Given the description of an element on the screen output the (x, y) to click on. 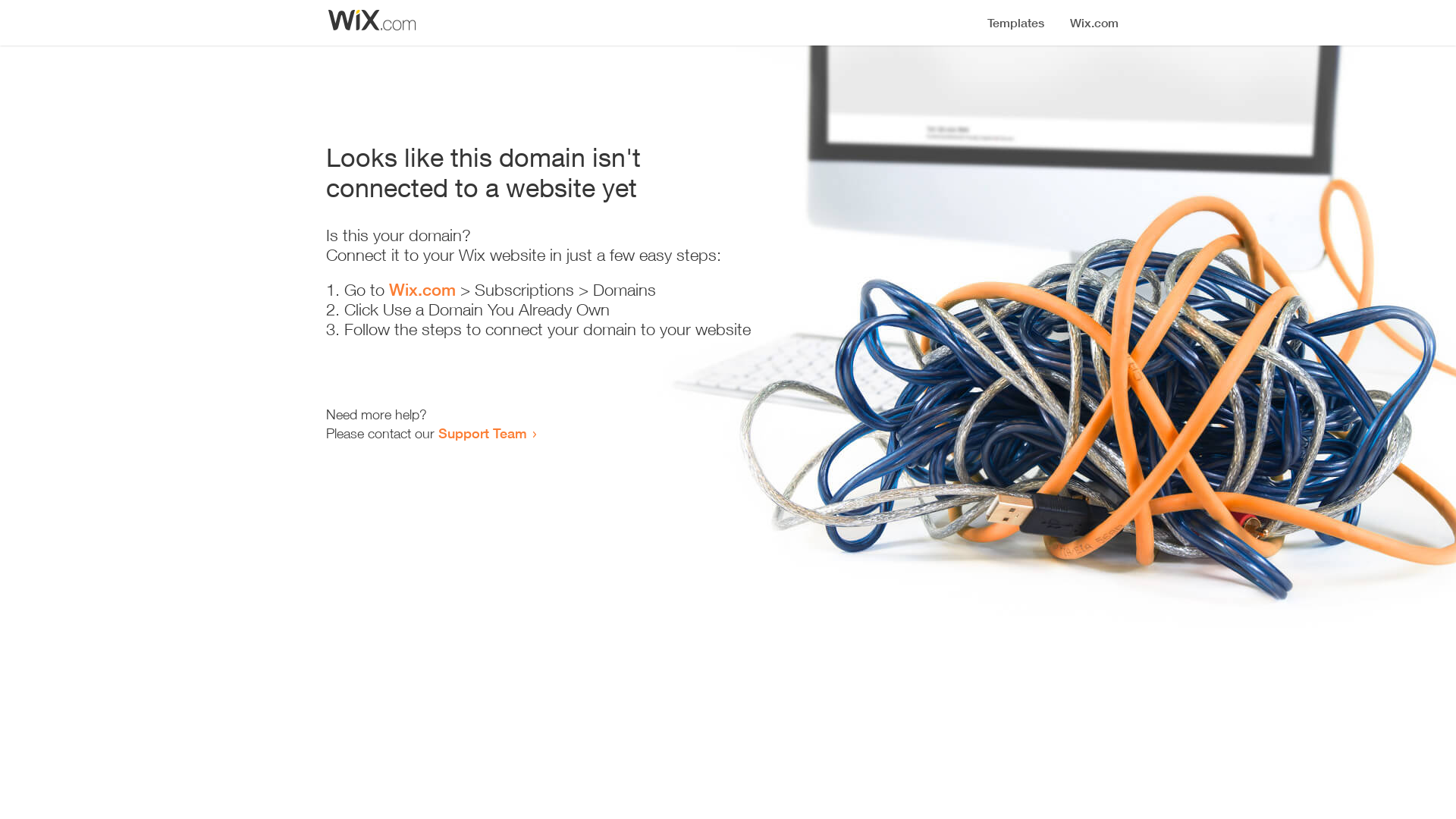
Support Team Element type: text (482, 432)
Wix.com Element type: text (422, 289)
